Given the description of an element on the screen output the (x, y) to click on. 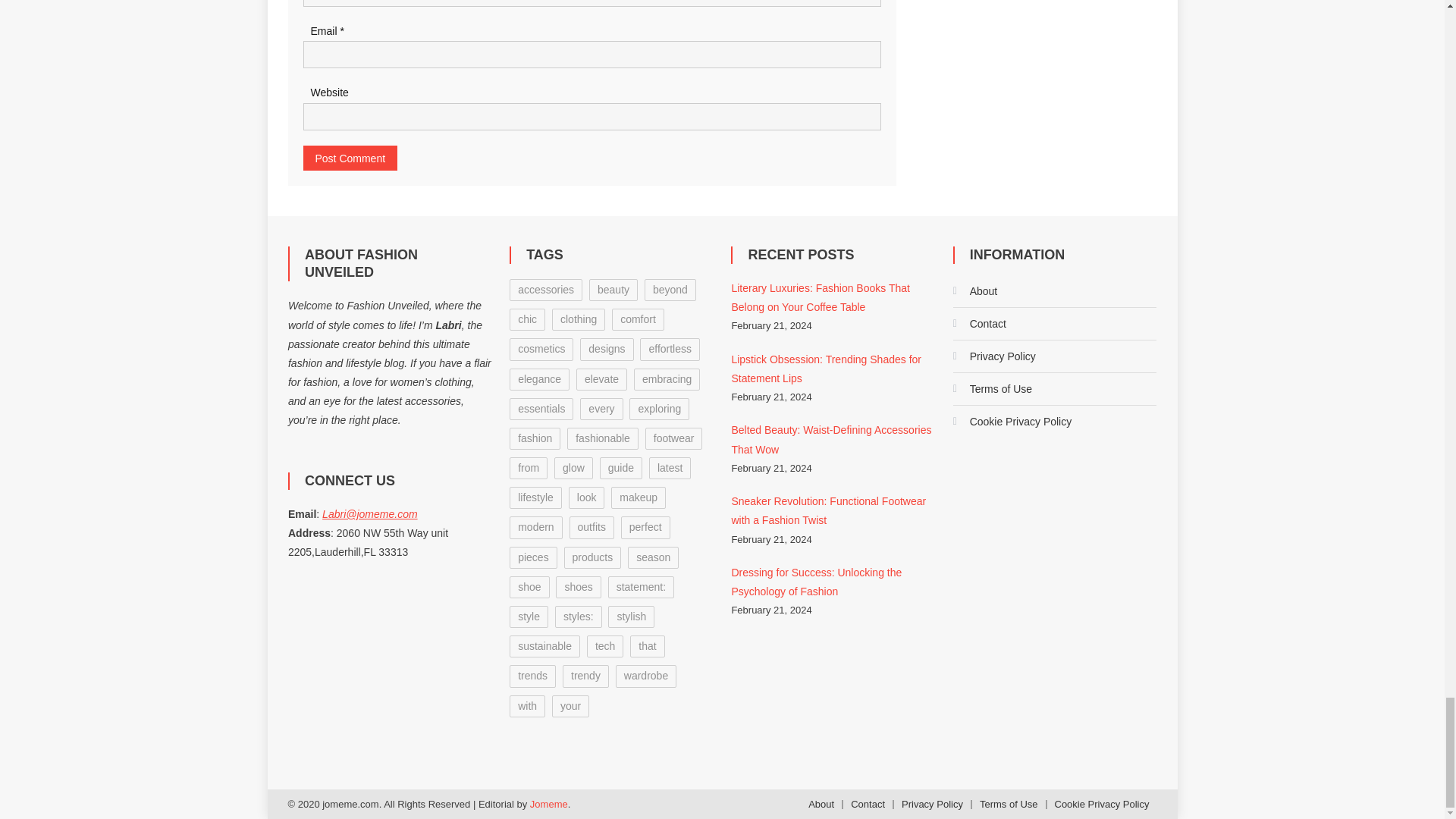
Post Comment (349, 157)
